Given the description of an element on the screen output the (x, y) to click on. 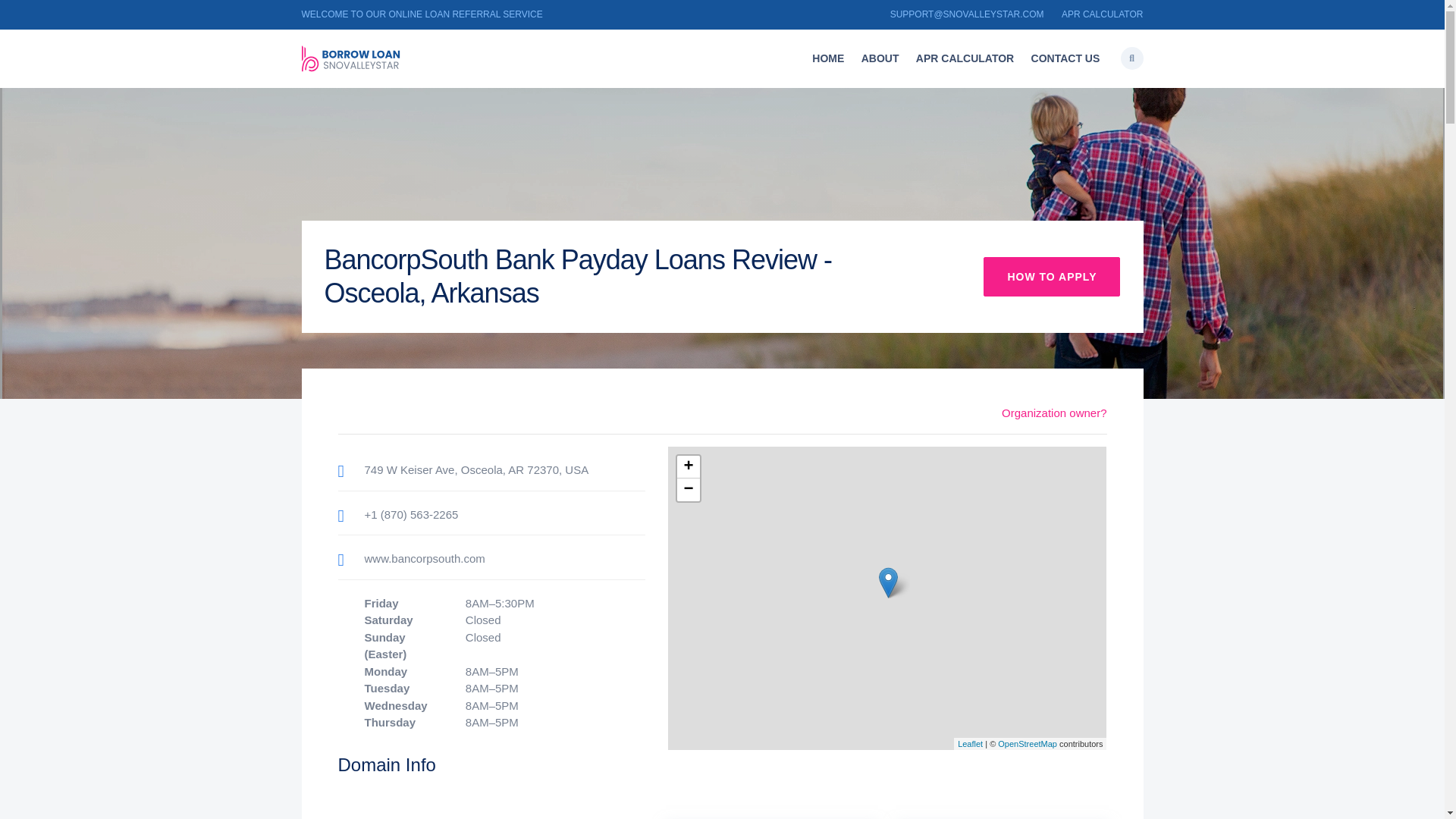
CONTACT US (1065, 58)
HOW TO APPLY (1051, 276)
Organization owner? (1053, 412)
APR CALCULATOR (1101, 14)
Zoom in (687, 466)
ABOUT (879, 58)
Organization owner? (1053, 412)
APR CALCULATOR (965, 58)
A JS library for interactive maps (970, 743)
Leaflet (970, 743)
HOME (827, 58)
OpenStreetMap (1027, 743)
Zoom out (687, 489)
